Given the description of an element on the screen output the (x, y) to click on. 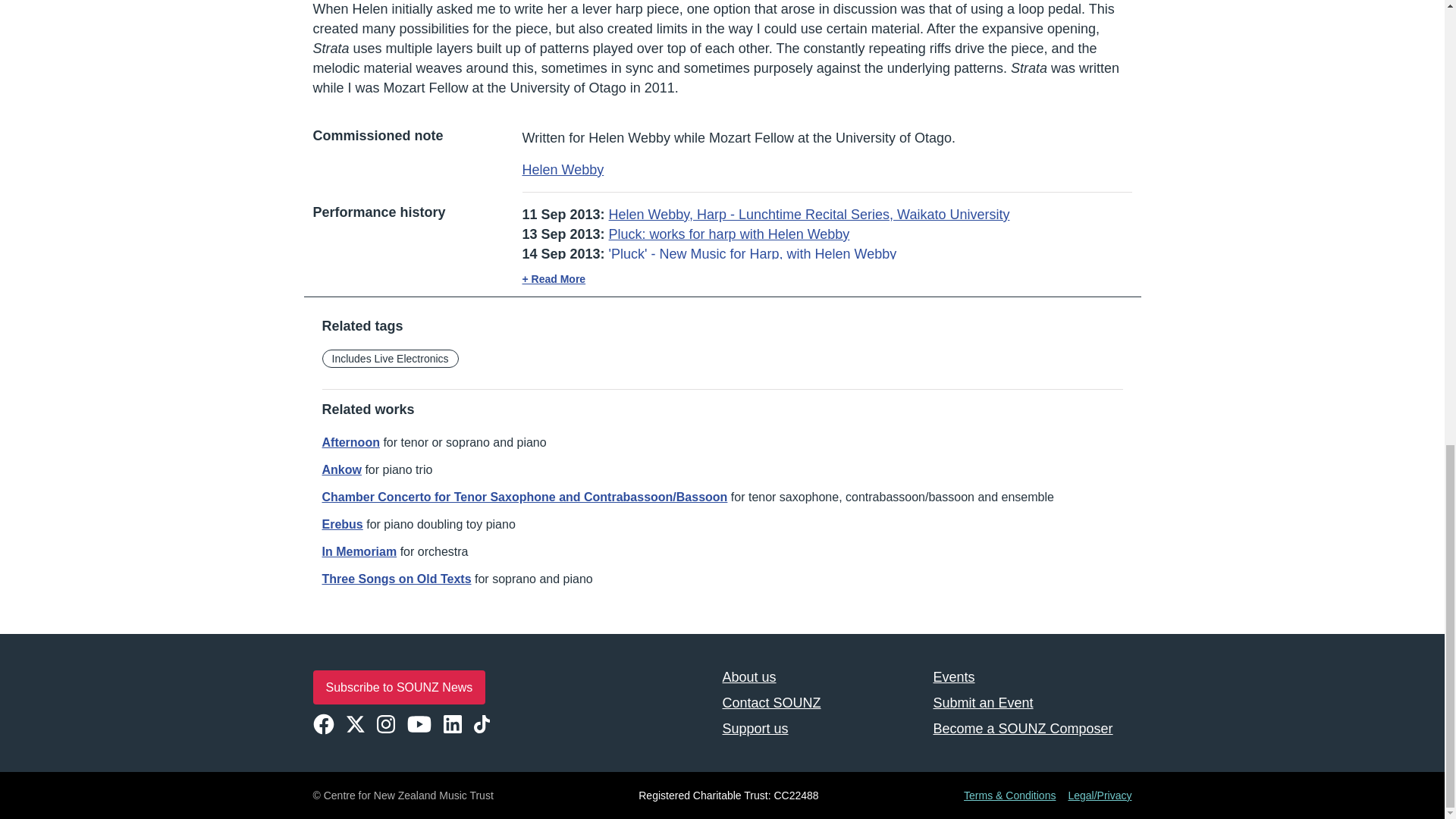
Pluck: works for harp with Helen Webby (729, 233)
'Pluck' - New Music for Harp, with Helen Webby (752, 253)
Helen Webby (562, 169)
